Given the description of an element on the screen output the (x, y) to click on. 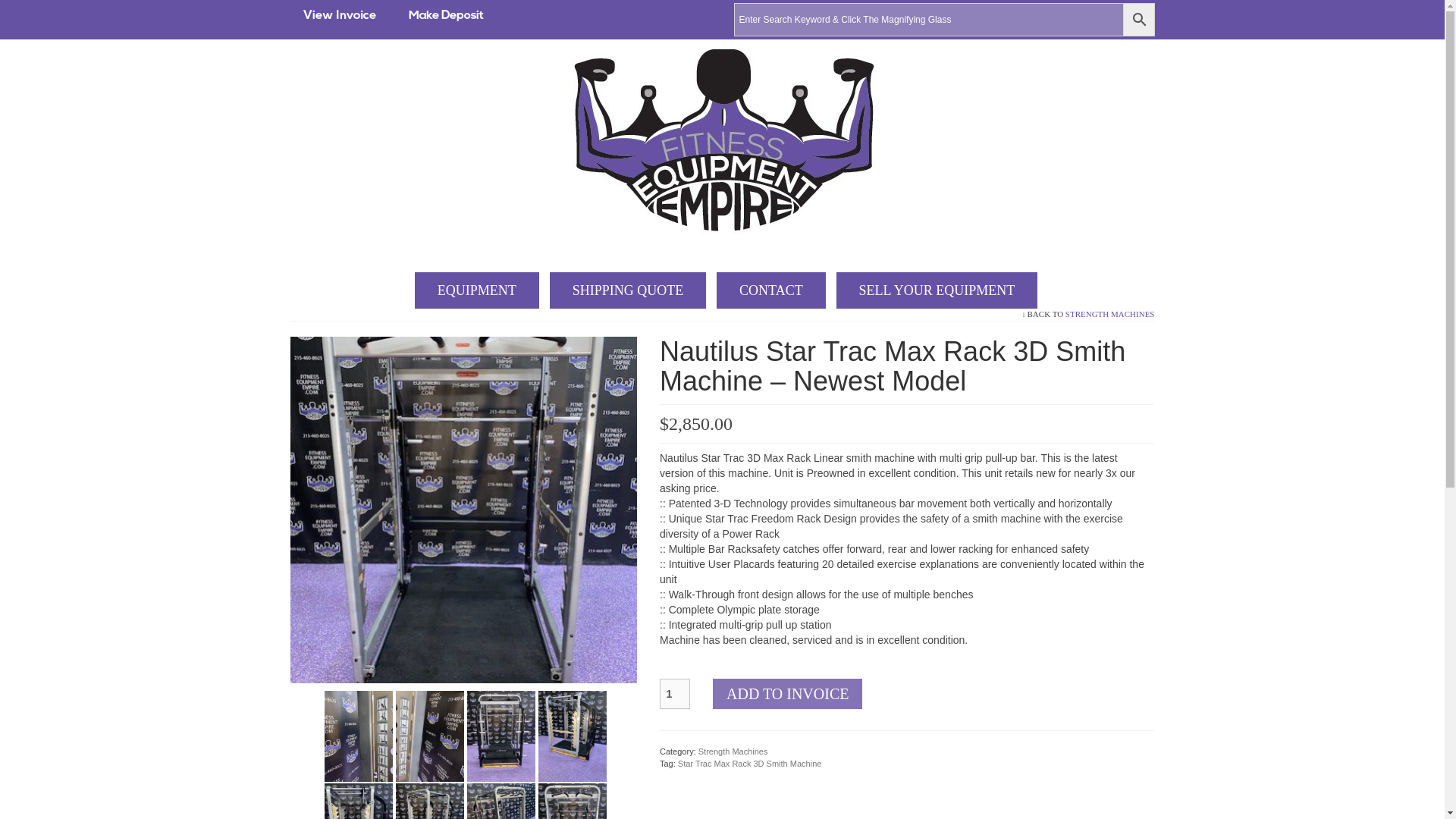
EQUIPMENT (476, 289)
SHIPPING QUOTE (628, 289)
CONTACT (770, 289)
Contact (770, 289)
Sell Your Equipment (936, 289)
STRENGTH MACHINES (1109, 313)
1 (674, 693)
SELL YOUR EQUIPMENT (936, 289)
